Given the description of an element on the screen output the (x, y) to click on. 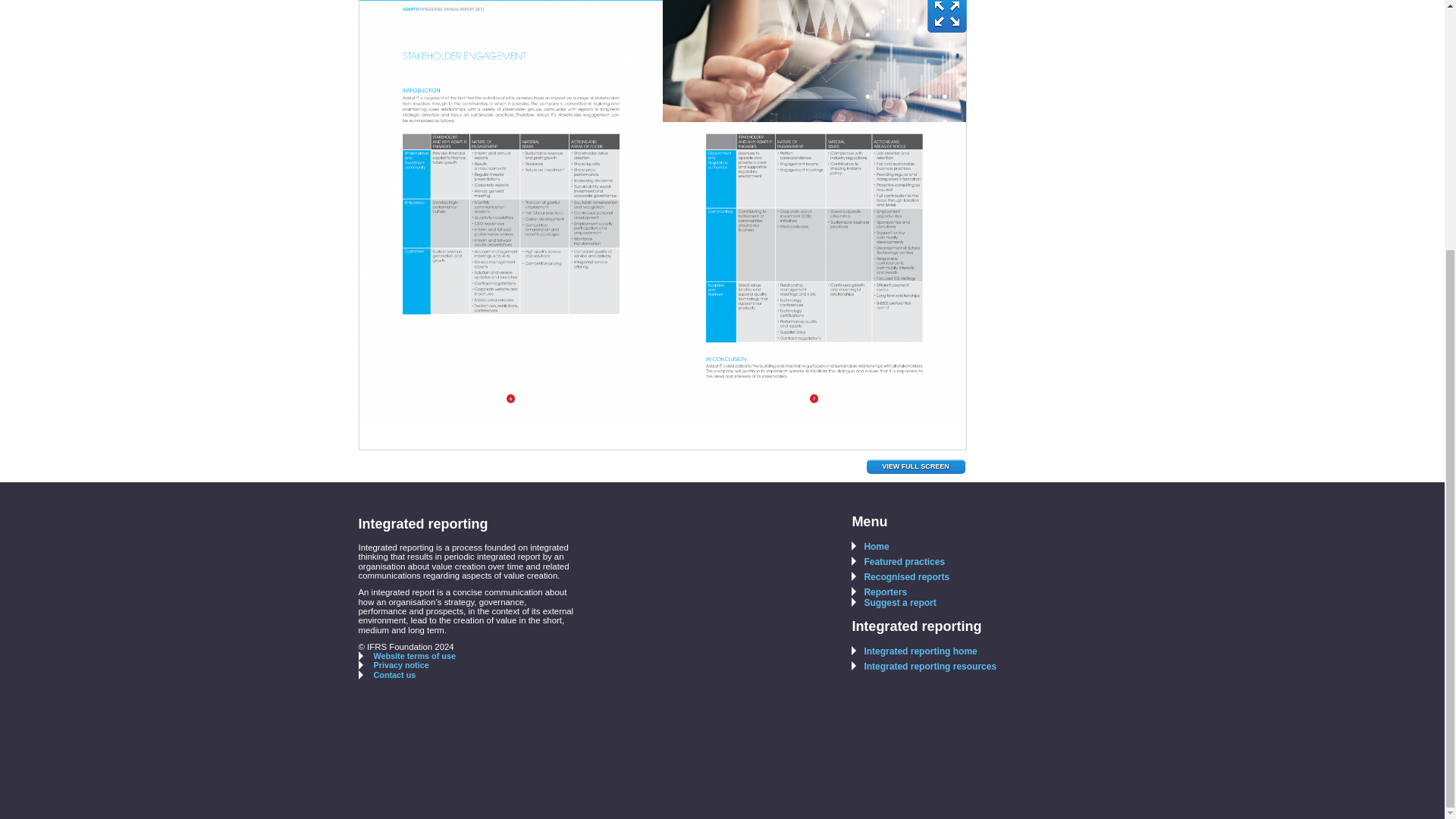
Featured practices (897, 561)
Website terms of use (406, 655)
Integrated reporting resources (923, 665)
Integrated reporting home (913, 651)
VIEW FULL SCREEN (914, 467)
Contact us (386, 674)
Home (869, 546)
Integrated reporting (916, 626)
Suggest a report (893, 602)
Privacy notice (393, 664)
